Given the description of an element on the screen output the (x, y) to click on. 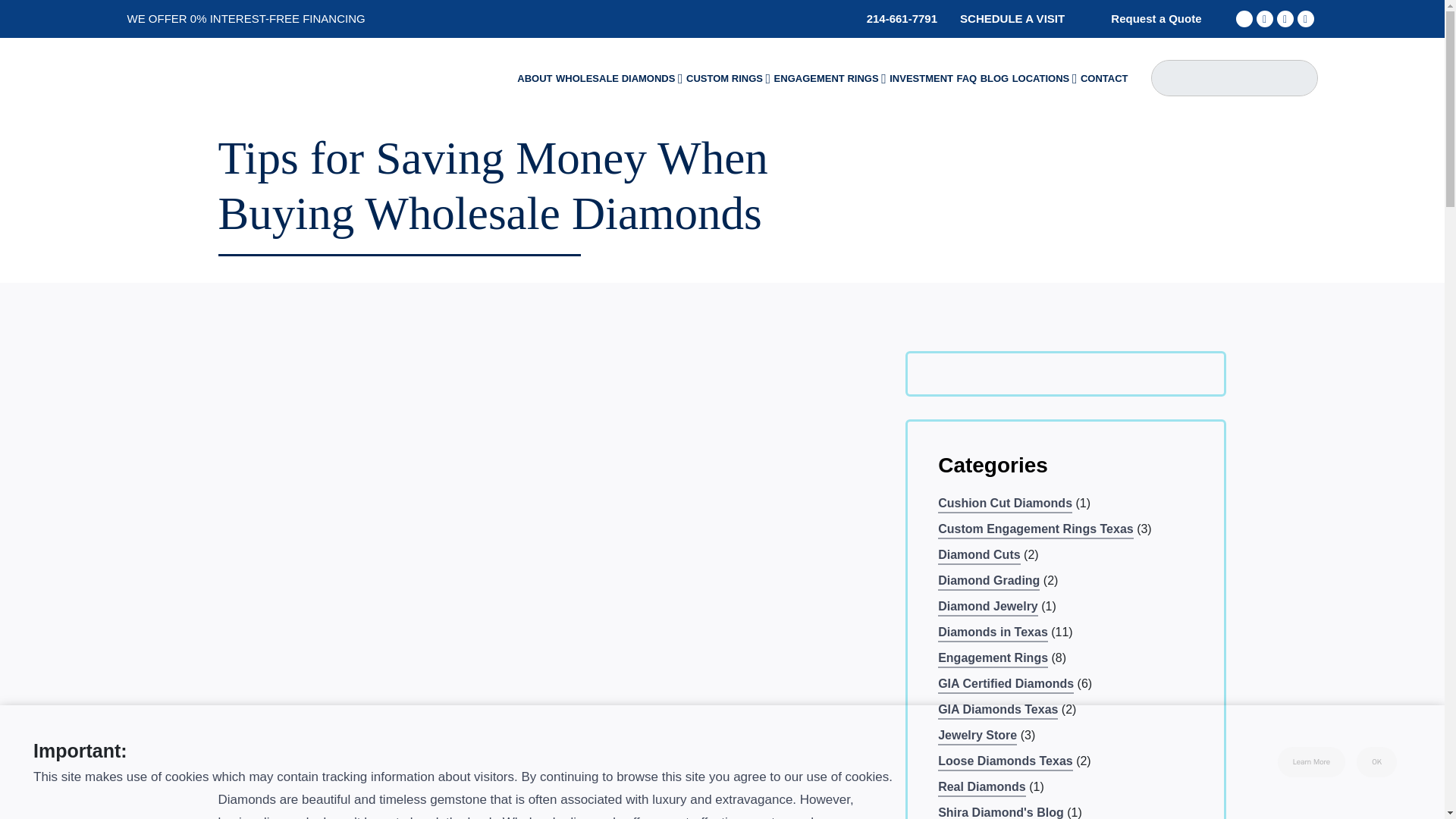
Request a Quote (1144, 18)
SCHEDULE A VISIT (1011, 18)
214-661-7791 (892, 18)
